Given the description of an element on the screen output the (x, y) to click on. 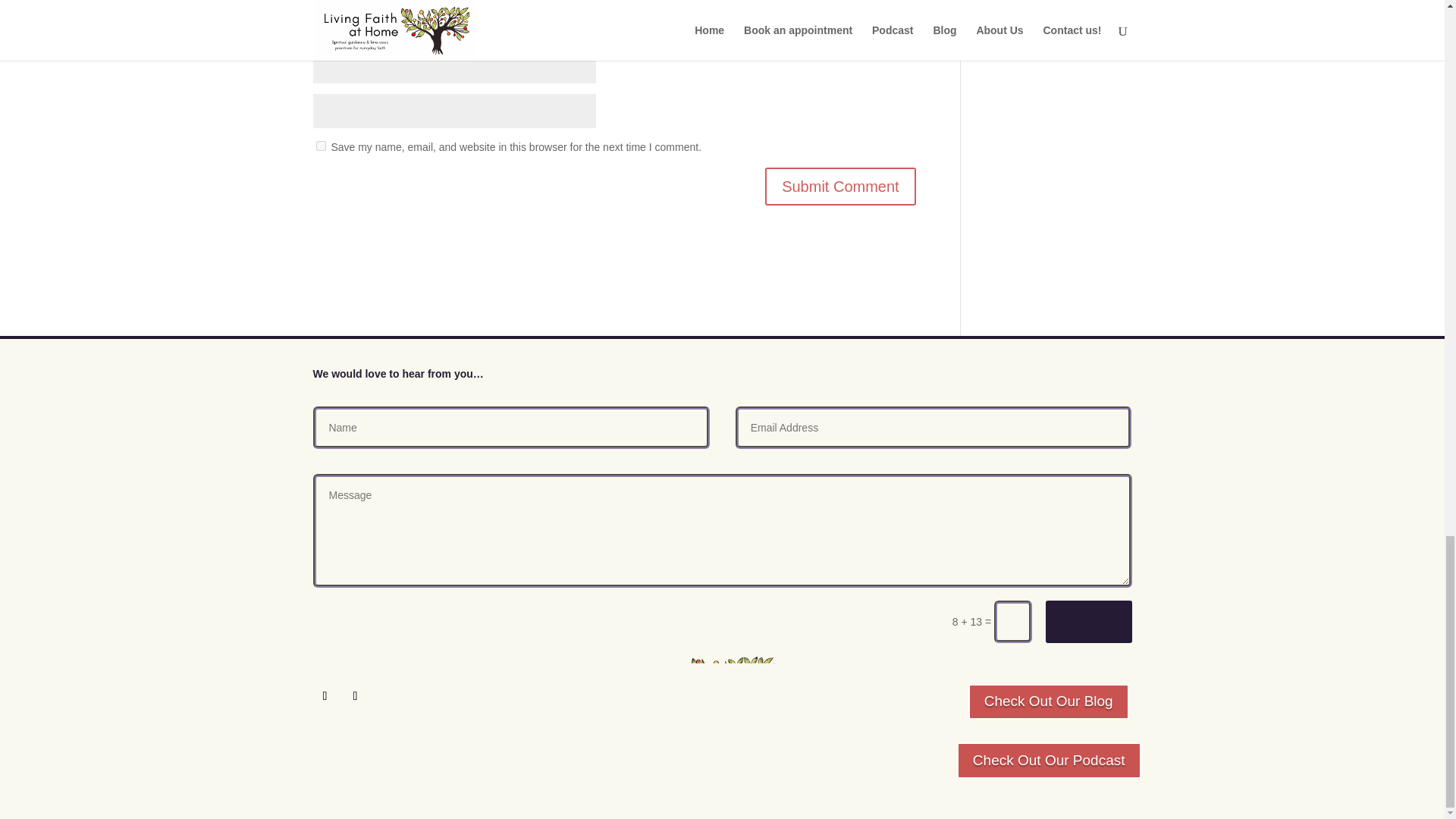
Submit Comment (840, 186)
Submit (1088, 621)
Follow on Instagram (354, 695)
Submit Comment (840, 186)
yes (319, 145)
Check Out Our Blog (1048, 701)
Follow on Facebook (324, 695)
Check Out Our Podcast (1048, 760)
